Given the description of an element on the screen output the (x, y) to click on. 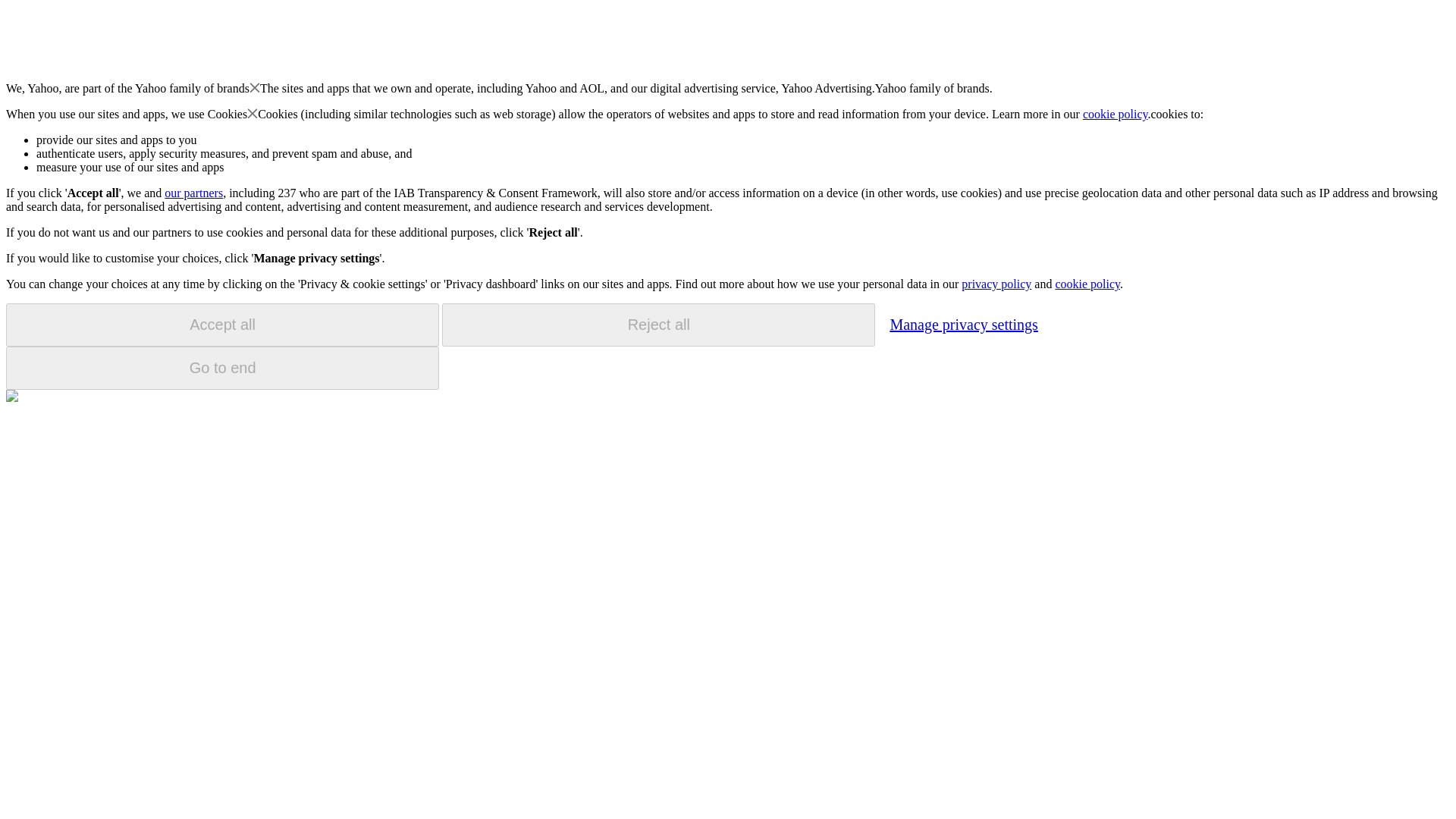
our partners (193, 192)
Accept all (222, 324)
Go to end (222, 367)
cookie policy (1115, 113)
Reject all (658, 324)
cookie policy (1086, 283)
privacy policy (995, 283)
Manage privacy settings (963, 323)
